Given the description of an element on the screen output the (x, y) to click on. 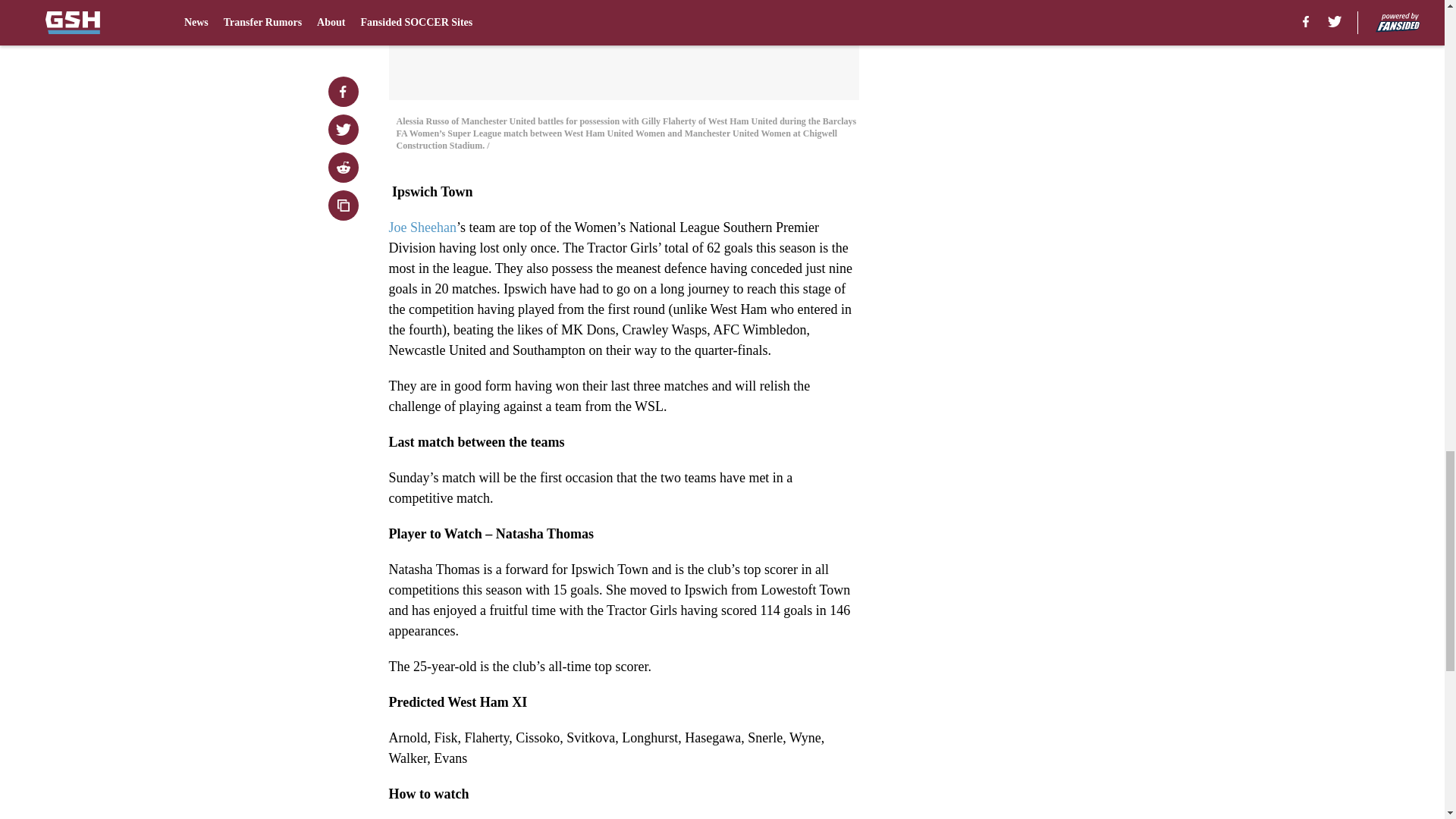
Joe Sheehan (421, 227)
